Given the description of an element on the screen output the (x, y) to click on. 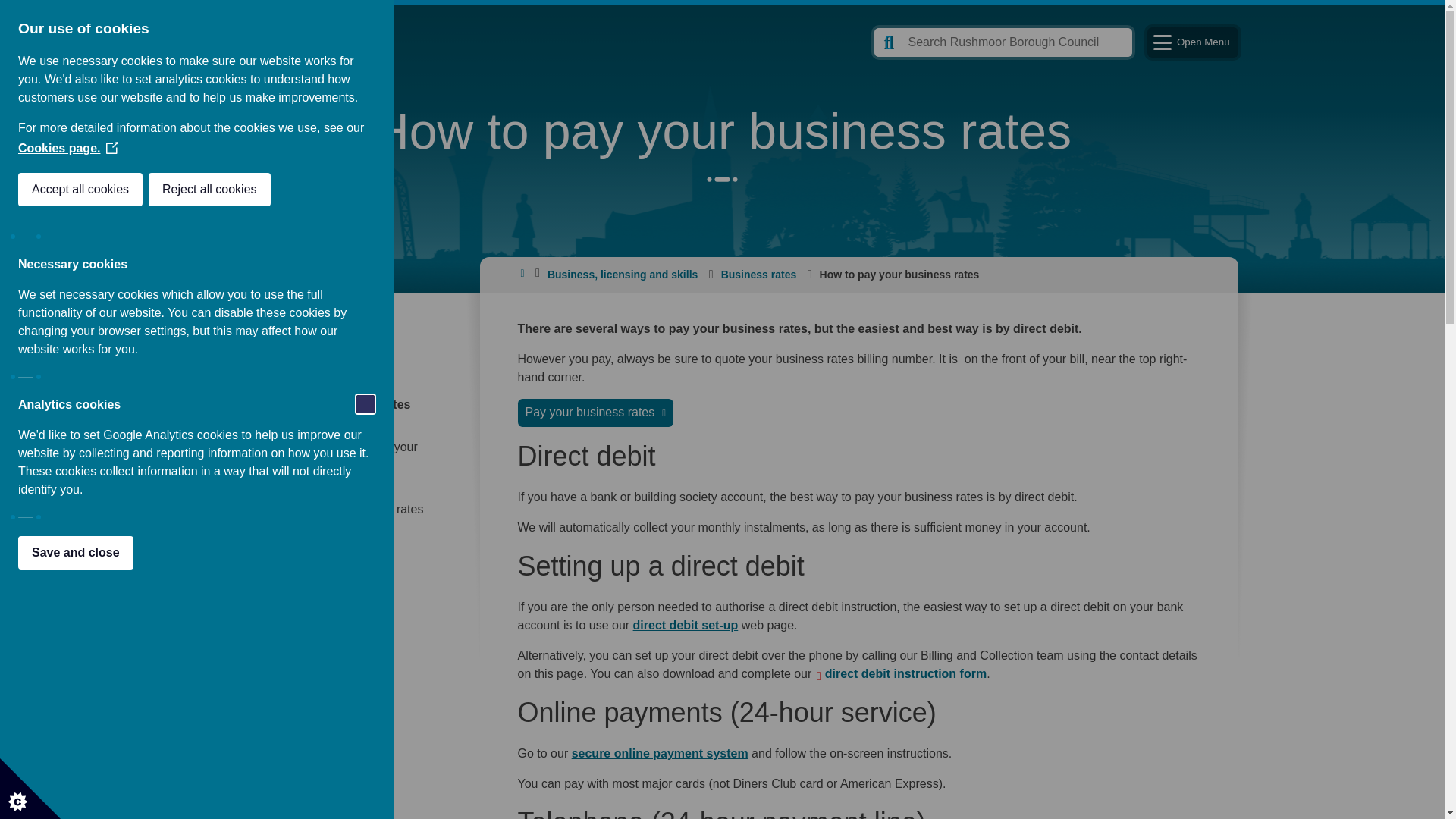
Direct Debit Instruction NNDR (906, 673)
Search (1002, 41)
Open Menu (1192, 42)
Reject all cookies (18, 189)
